Given the description of an element on the screen output the (x, y) to click on. 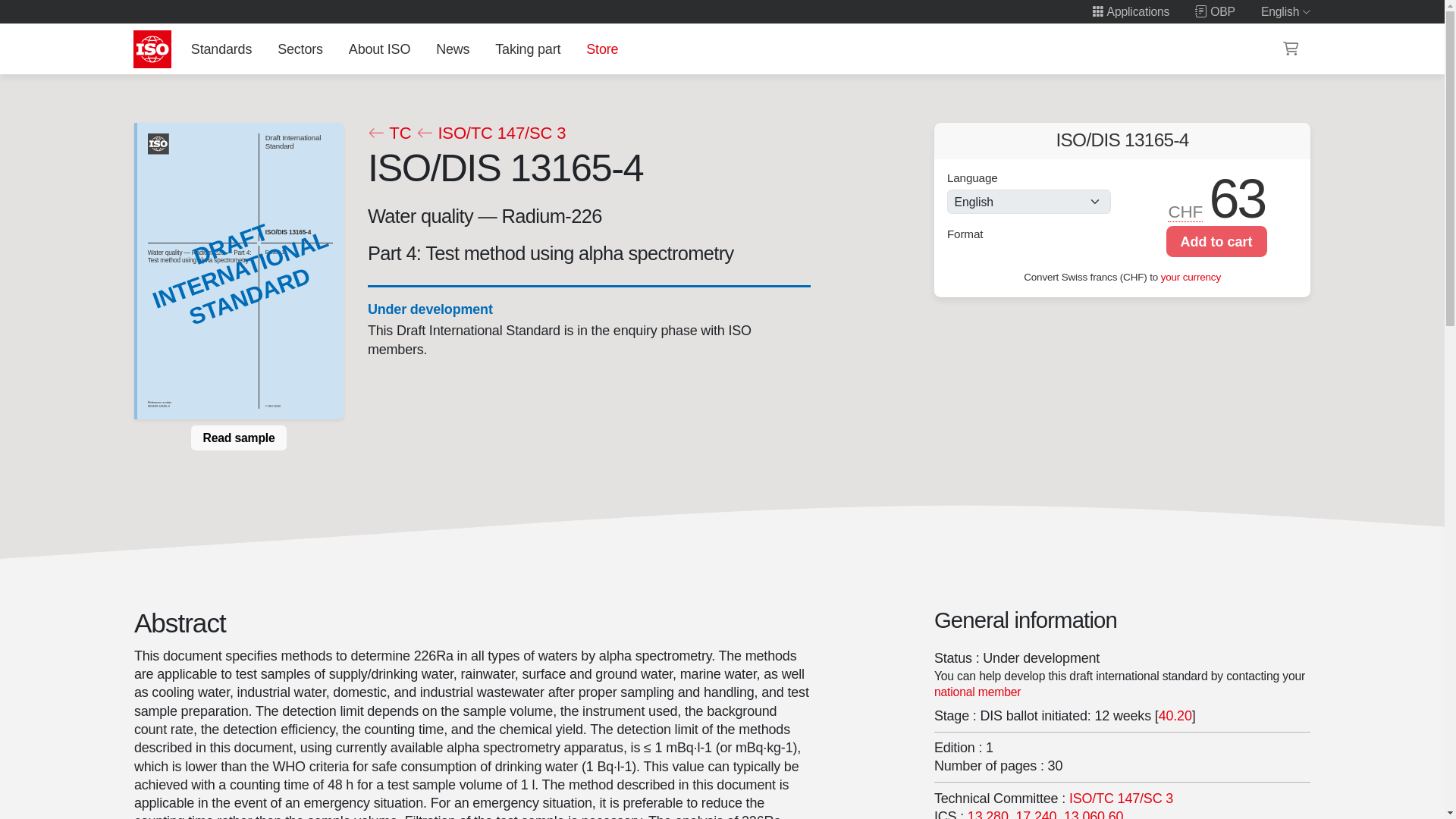
Standards (220, 48)
Read sample (237, 437)
Add to cart (1216, 241)
Radiation protection (988, 814)
ISO's applications portal (1130, 11)
17.240 (1036, 814)
Taking part (528, 48)
national member (978, 691)
Online Browsing Platform (1214, 11)
Life cycle (429, 309)
Store (601, 48)
English (1285, 11)
International Organization for Standardization (152, 48)
